Given the description of an element on the screen output the (x, y) to click on. 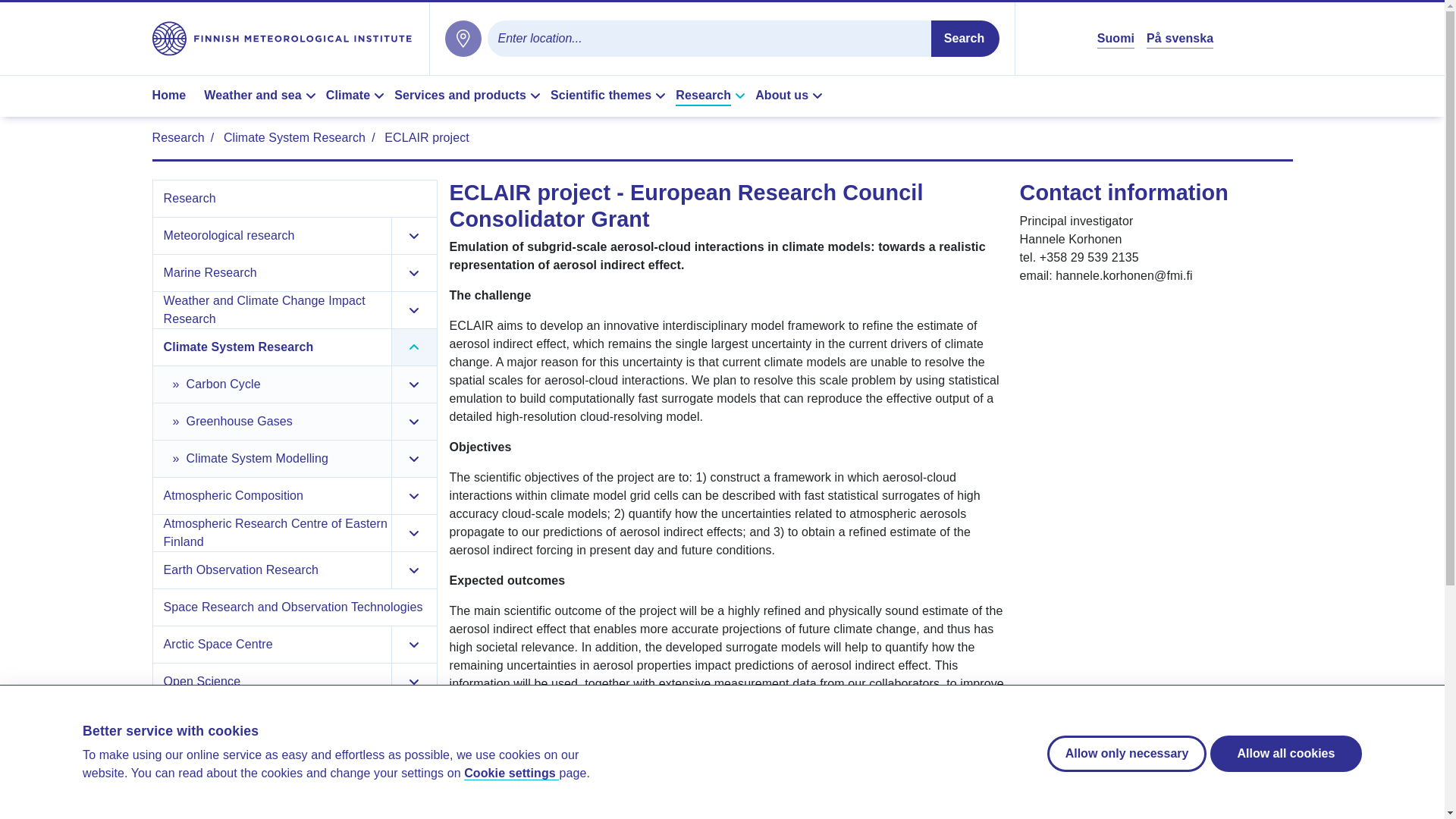
Services and products (469, 96)
Climate System Research (274, 347)
Marine Research (274, 272)
Locate (462, 38)
Search (964, 38)
Meteorological research (274, 235)
ECLAIR project (426, 137)
Weather and Climate Change Impact Research (274, 309)
Earth Observation Research (274, 570)
Home (174, 96)
